Given the description of an element on the screen output the (x, y) to click on. 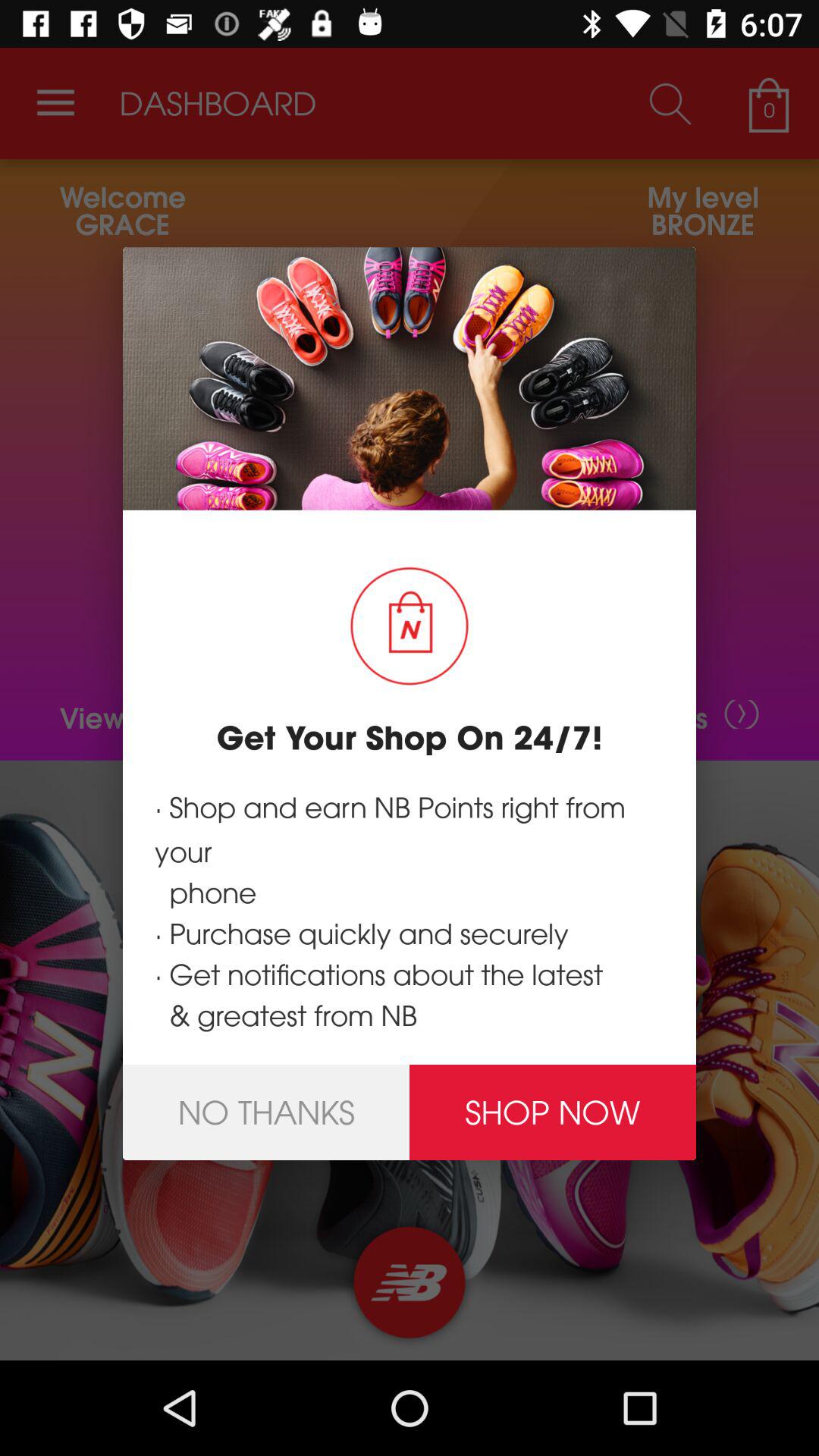
jump to the shop now (552, 1112)
